Given the description of an element on the screen output the (x, y) to click on. 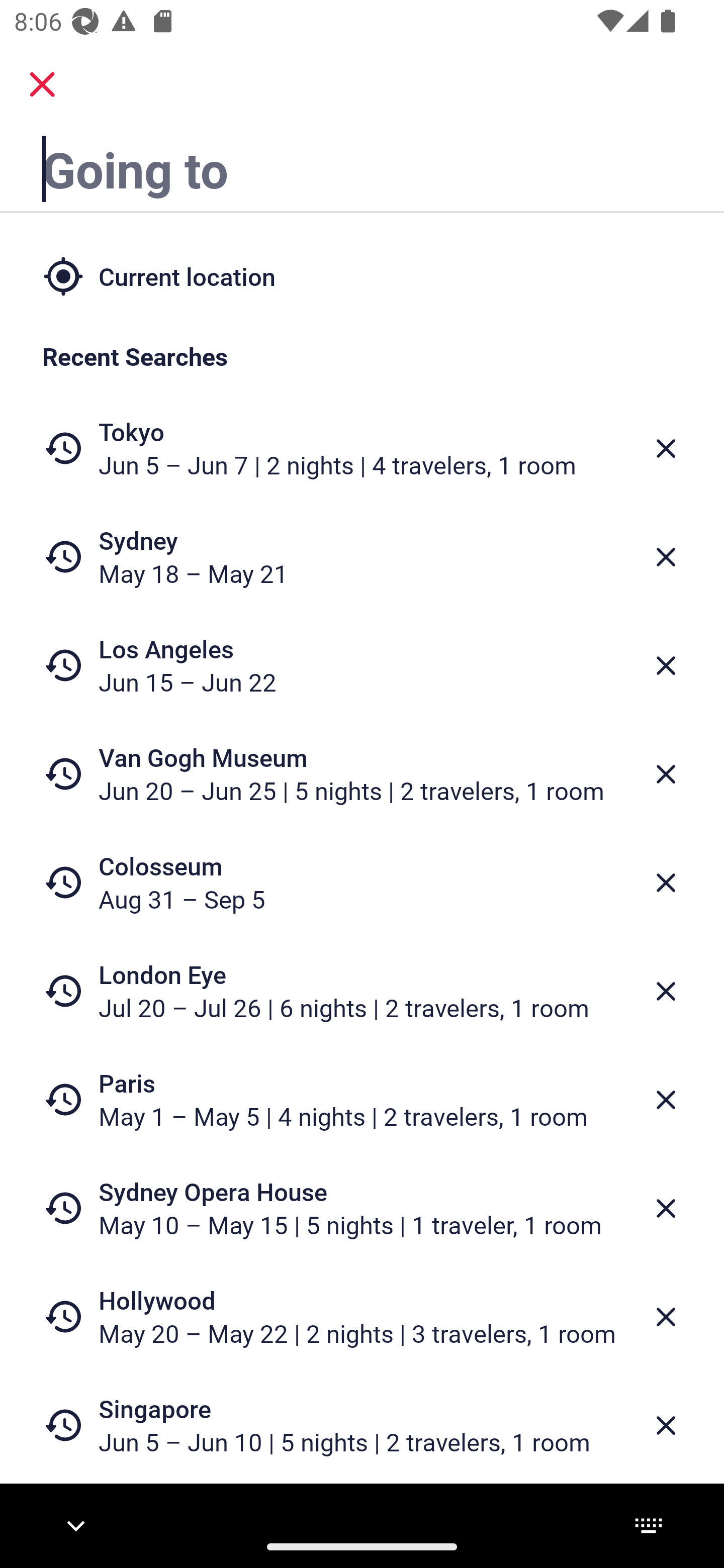
close. (42, 84)
Current location (362, 275)
Delete from recent searches (666, 448)
Sydney May 18 – May 21 (362, 557)
Delete from recent searches (666, 556)
Los Angeles Jun 15 – Jun 22 (362, 665)
Delete from recent searches (666, 666)
Delete from recent searches (666, 774)
Colosseum Aug 31 – Sep 5 (362, 881)
Delete from recent searches (666, 882)
Delete from recent searches (666, 990)
Delete from recent searches (666, 1100)
Delete from recent searches (666, 1208)
Delete from recent searches (666, 1316)
Delete from recent searches (666, 1424)
